Given the description of an element on the screen output the (x, y) to click on. 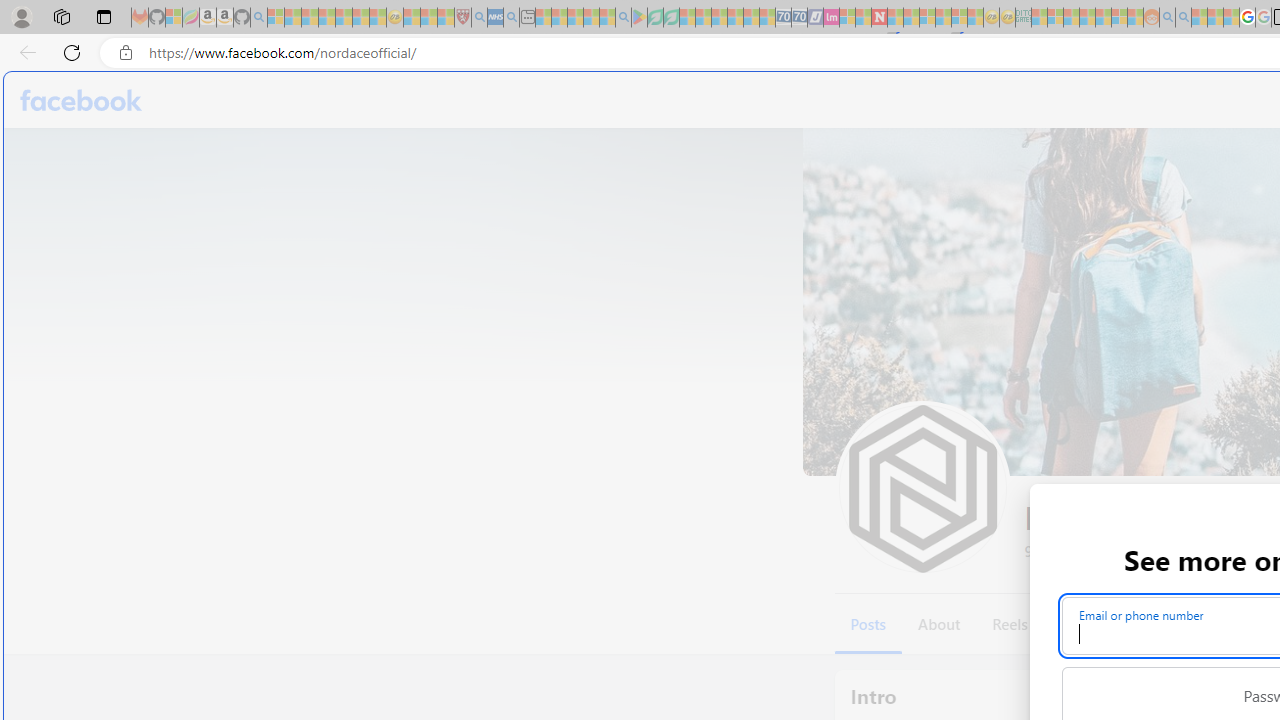
14 Common Myths Debunked By Scientific Facts - Sleeping (911, 17)
Terms of Use Agreement - Sleeping (655, 17)
utah sues federal government - Search - Sleeping (511, 17)
Utah sues federal government - Search - Sleeping (1183, 17)
Facebook (81, 99)
